Given the description of an element on the screen output the (x, y) to click on. 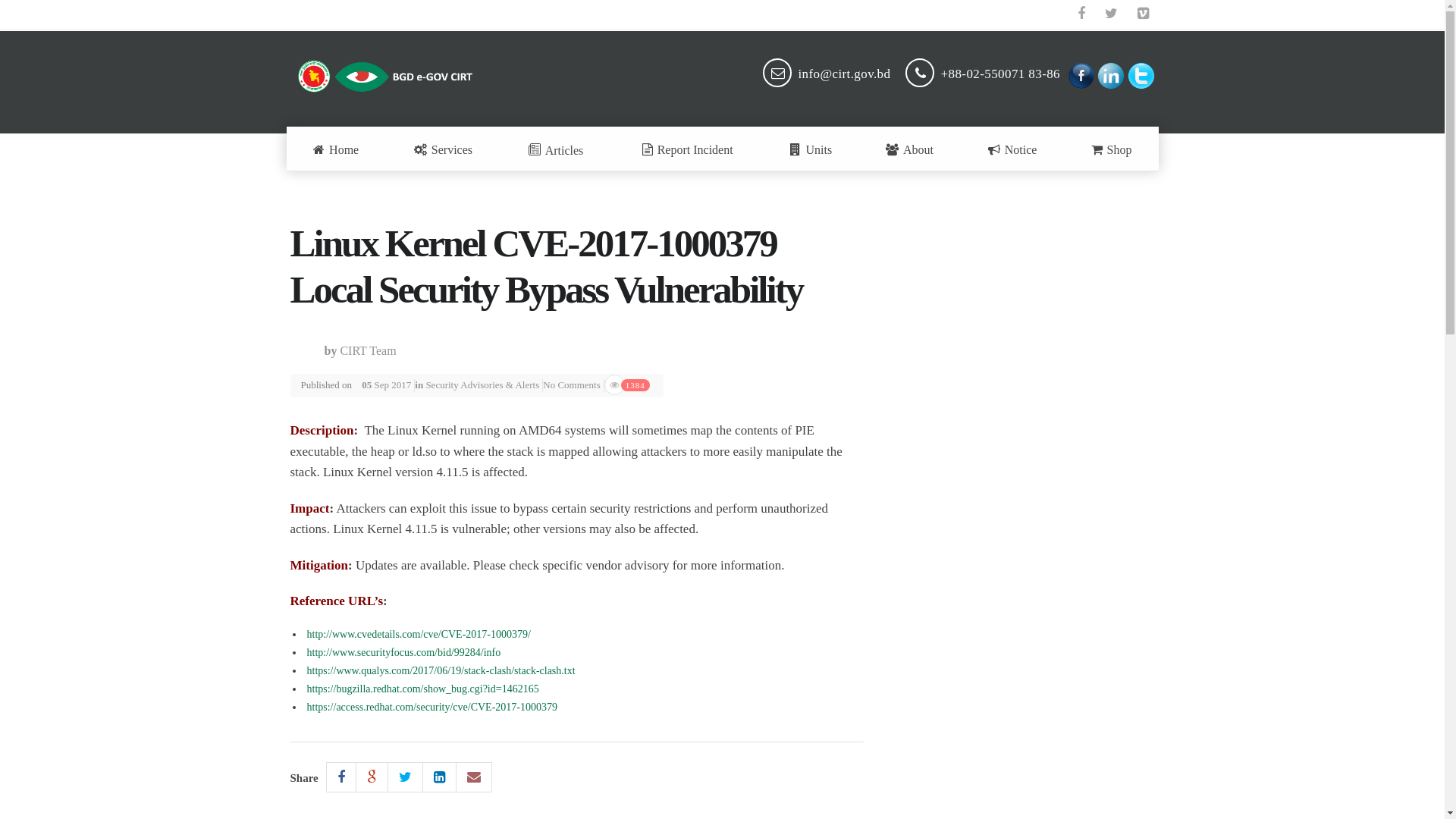
Report Incident Element type: text (687, 148)
http://www.cvedetails.com/cve/CVE-2017-1000379/ Element type: text (418, 634)
Shop Element type: text (1110, 148)
https://bugzilla.redhat.com/show_bug.cgi?id=1462165 Element type: text (422, 688)
Facebook Page Element type: hover (1081, 74)
Units Element type: text (810, 148)
Home Element type: text (335, 148)
Articles Element type: text (555, 148)
http://www.securityfocus.com/bid/99284/info Element type: text (403, 652)
Notice Element type: text (1012, 148)
Services Element type: text (442, 148)
CIRT Team Element type: text (367, 350)
https://access.redhat.com/security/cve/CVE-2017-1000379 Element type: text (431, 706)
LinkedIn Page Element type: hover (1110, 74)
About Element type: text (909, 148)
Twitter Page Element type: hover (1140, 74)
Security Advisories & Alerts Element type: text (482, 384)
